Given the description of an element on the screen output the (x, y) to click on. 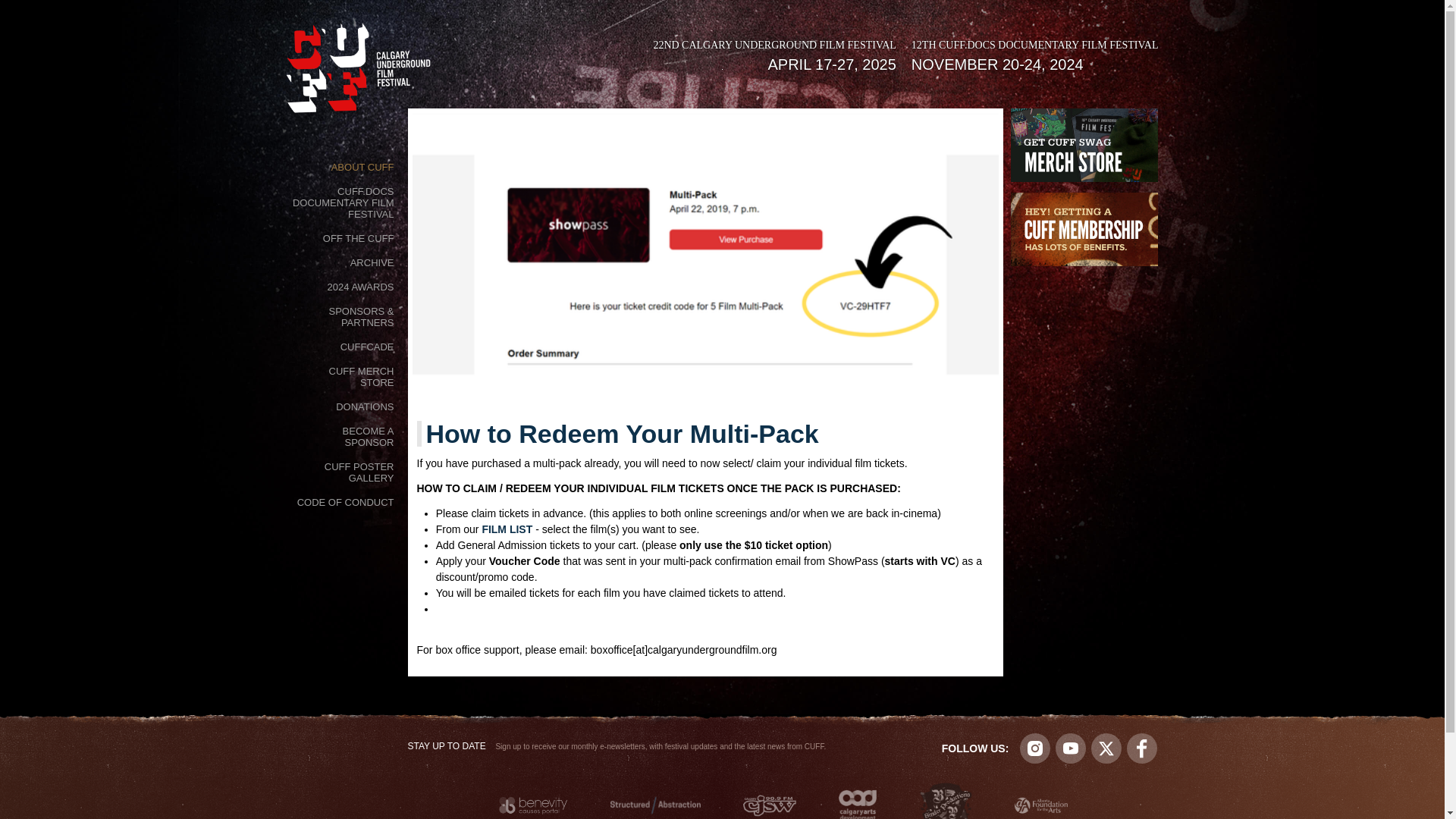
Visit us on Facebook (1141, 748)
Visit us on Twitter (1105, 748)
DONATIONS (364, 405)
ABOUT CUFF (362, 166)
CUFF.DOCS DOCUMENTARY FILM FESTIVAL (343, 201)
BECOME A SPONSOR (343, 435)
ARCHIVE (371, 261)
Instagram (1034, 748)
OFF THE CUFF (358, 237)
The Calgary Underground Film Festival (358, 70)
youtube (1070, 748)
Back to home (358, 70)
2024 AWARDS (360, 285)
CODE OF CONDUCT (345, 501)
